Given the description of an element on the screen output the (x, y) to click on. 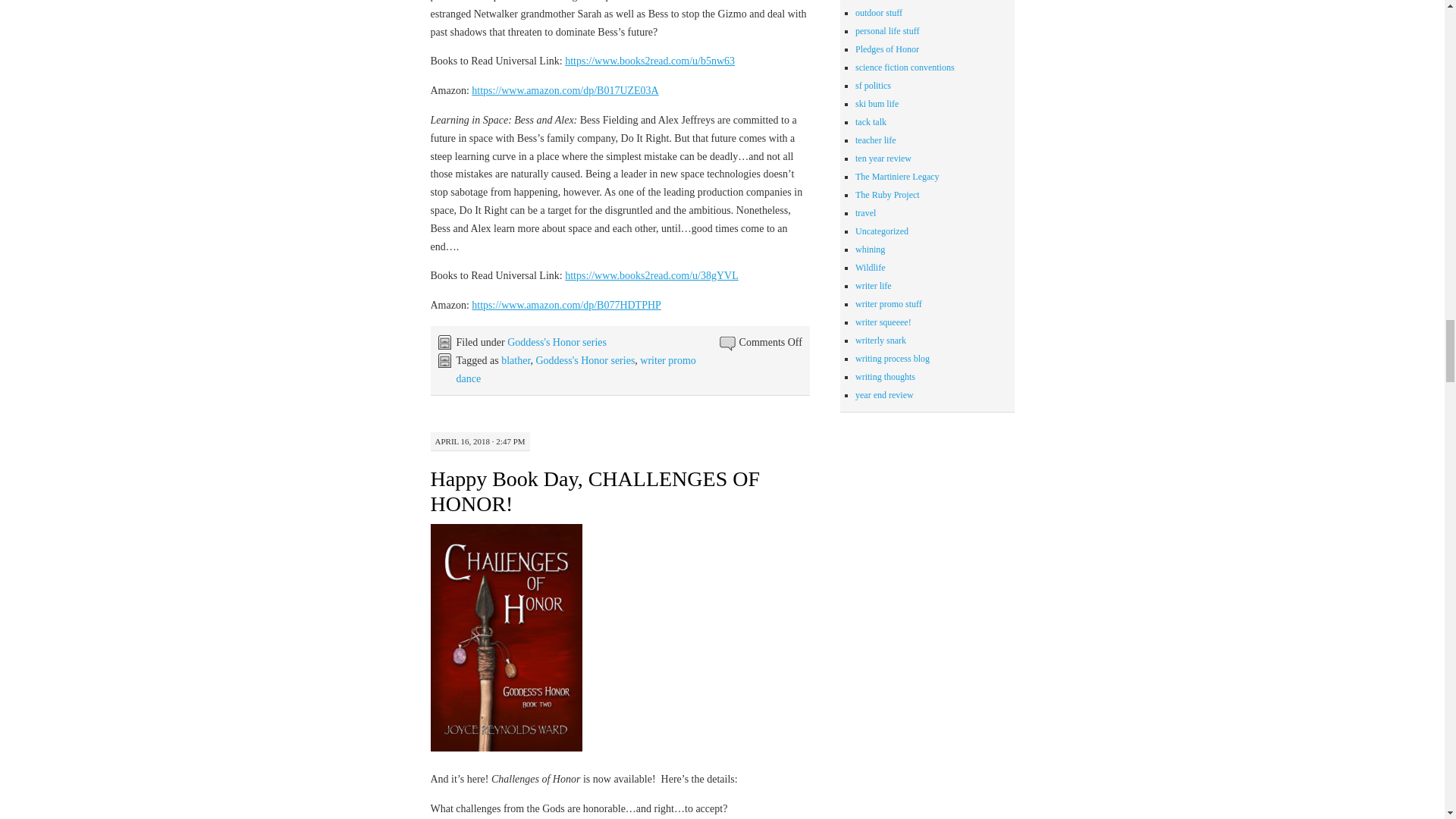
Goddess's Honor series (584, 360)
Goddess's Honor series (556, 342)
Happy Book Day, CHALLENGES OF HONOR! (595, 490)
blather (514, 360)
writer promo dance (576, 369)
